Given the description of an element on the screen output the (x, y) to click on. 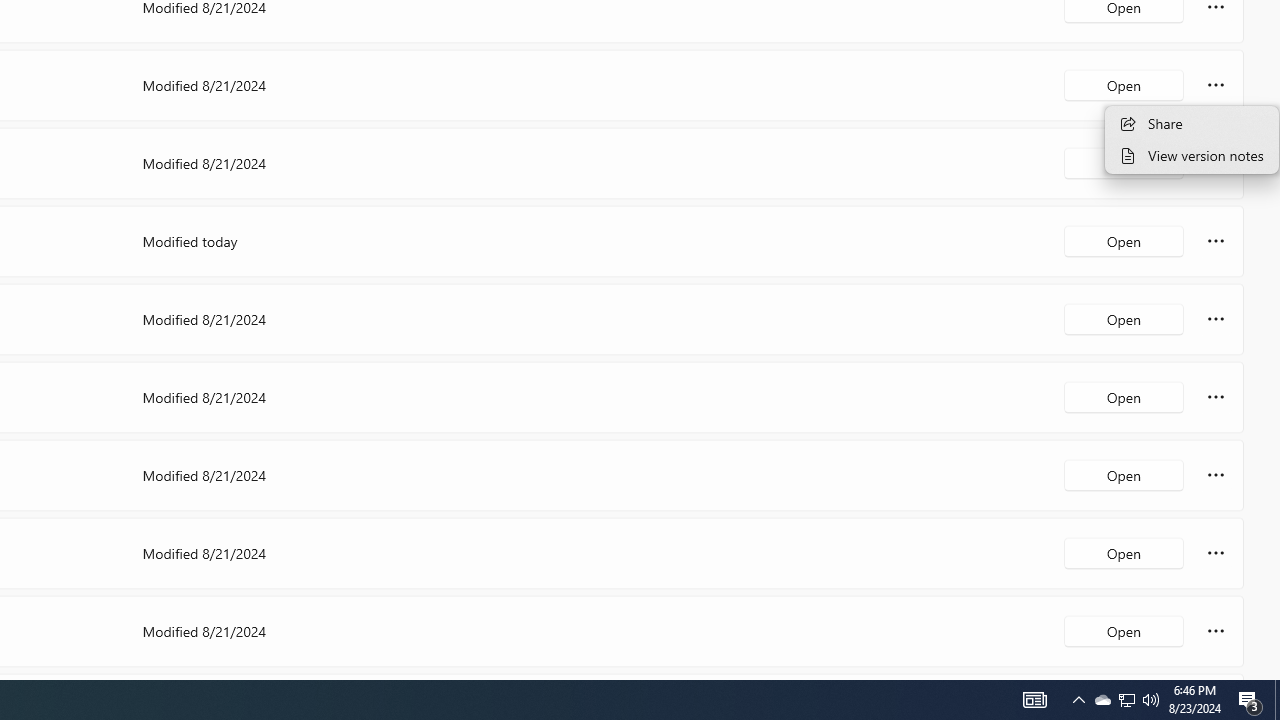
Vertical Small Increase (1272, 672)
More options (1215, 630)
Open (1123, 630)
